Given the description of an element on the screen output the (x, y) to click on. 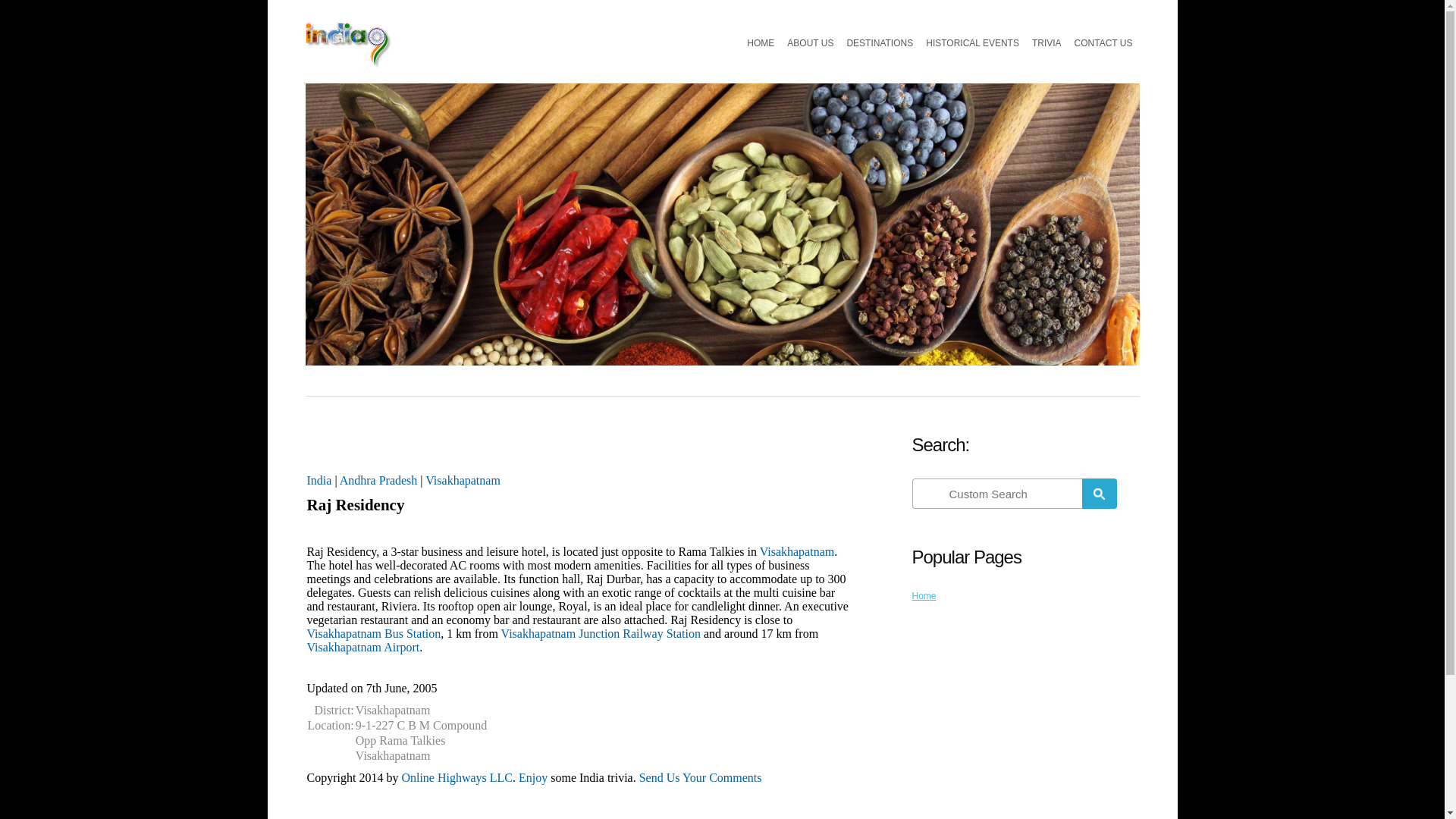
Online Highways LLC (456, 777)
CONTACT US (1103, 43)
India (318, 480)
Enjoy (532, 777)
City (462, 480)
TRIVIA (1046, 43)
Visakhapatnam Junction Railway Station (600, 633)
DESTINATIONS (879, 43)
State (378, 480)
search (1098, 493)
Visakhapatnam (462, 480)
Home (923, 595)
HOME (760, 43)
ABOUT US (810, 43)
search (997, 493)
